Given the description of an element on the screen output the (x, y) to click on. 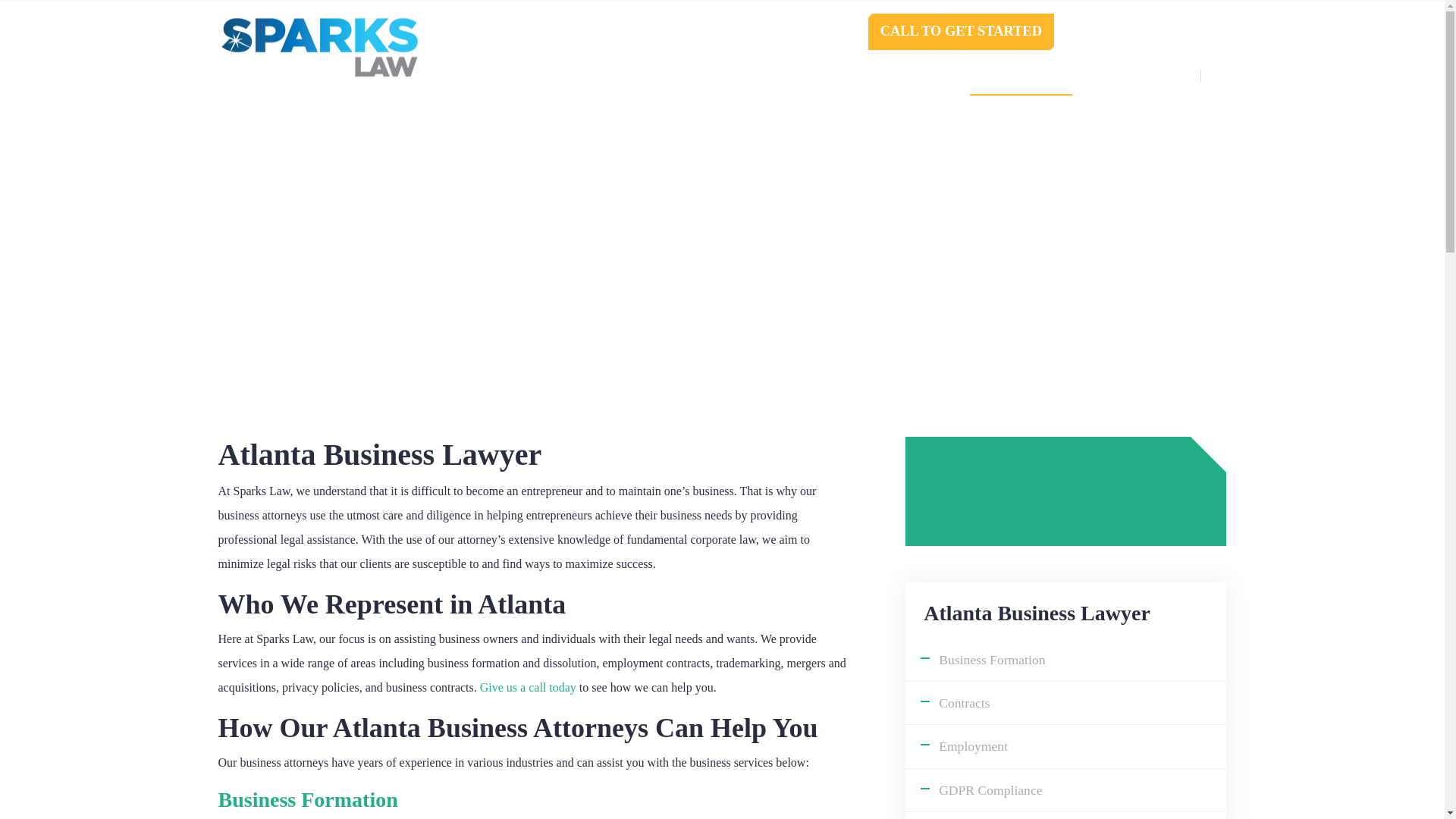
HOME (554, 76)
AREAS SERVED (1020, 76)
SERVICES (710, 76)
REVIEWS (801, 76)
CALL TO GET STARTED (960, 31)
ABOUT (626, 76)
RESOURCES (901, 76)
